Given the description of an element on the screen output the (x, y) to click on. 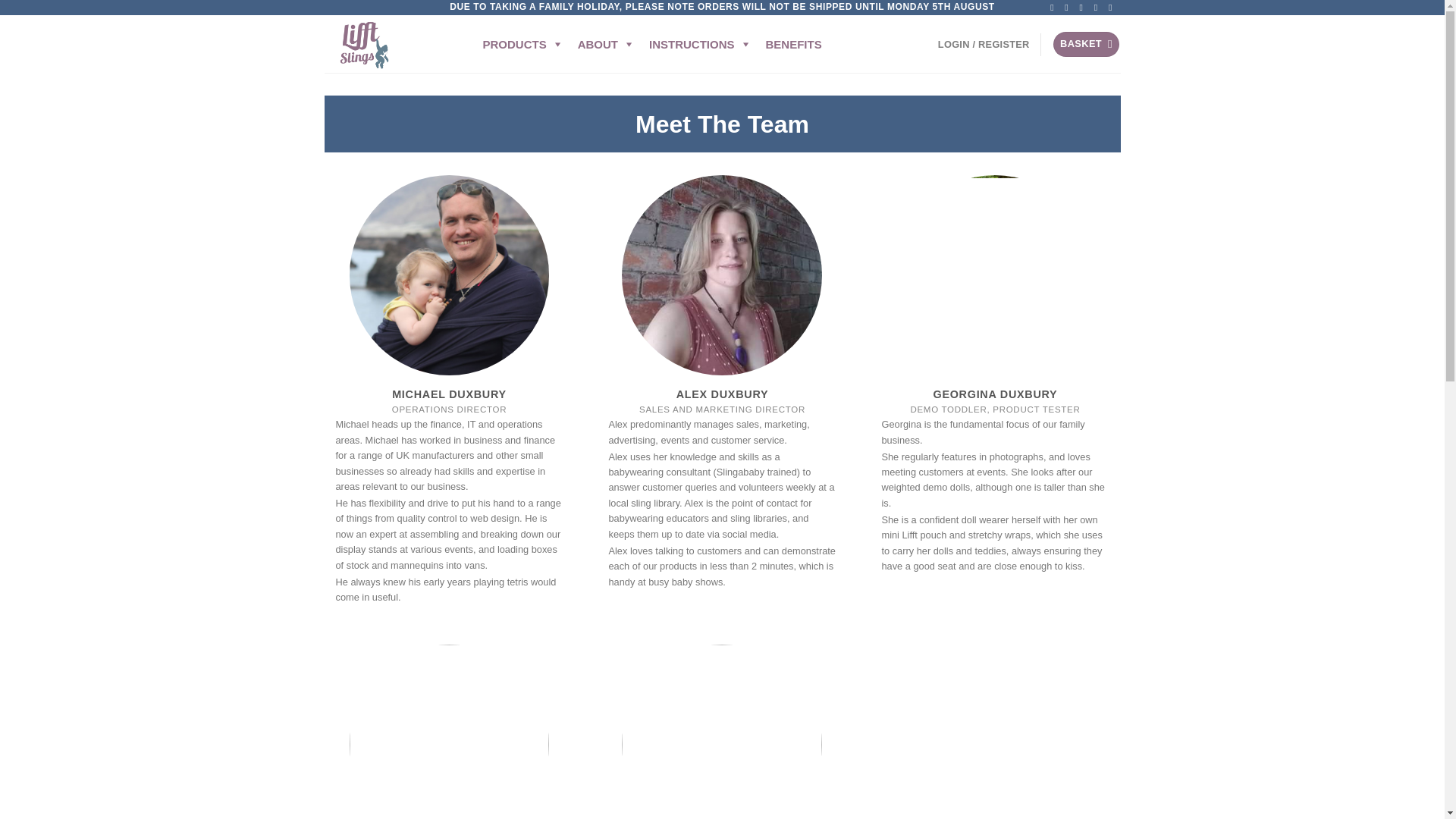
INSTRUCTIONS (700, 43)
Basket (1085, 43)
BASKET (1085, 43)
Follow on Facebook (1054, 7)
PRODUCTS (521, 43)
ABOUT (606, 43)
Follow on Twitter (1084, 7)
Follow on Instagram (1069, 7)
BENEFITS (793, 43)
Follow on Pinterest (1113, 7)
Send us an email (1098, 7)
